Given the description of an element on the screen output the (x, y) to click on. 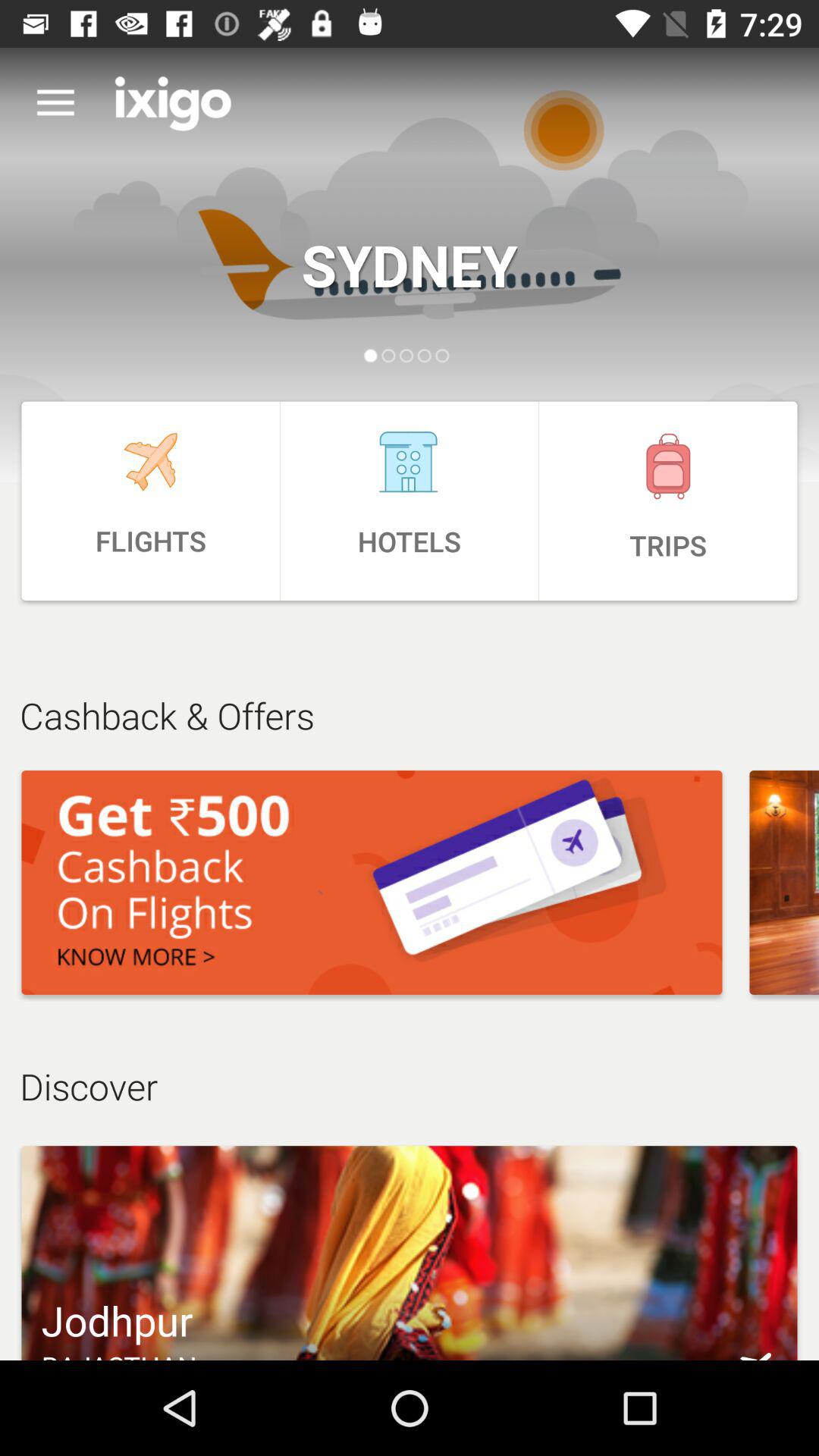
press the hotels icon (409, 500)
